Given the description of an element on the screen output the (x, y) to click on. 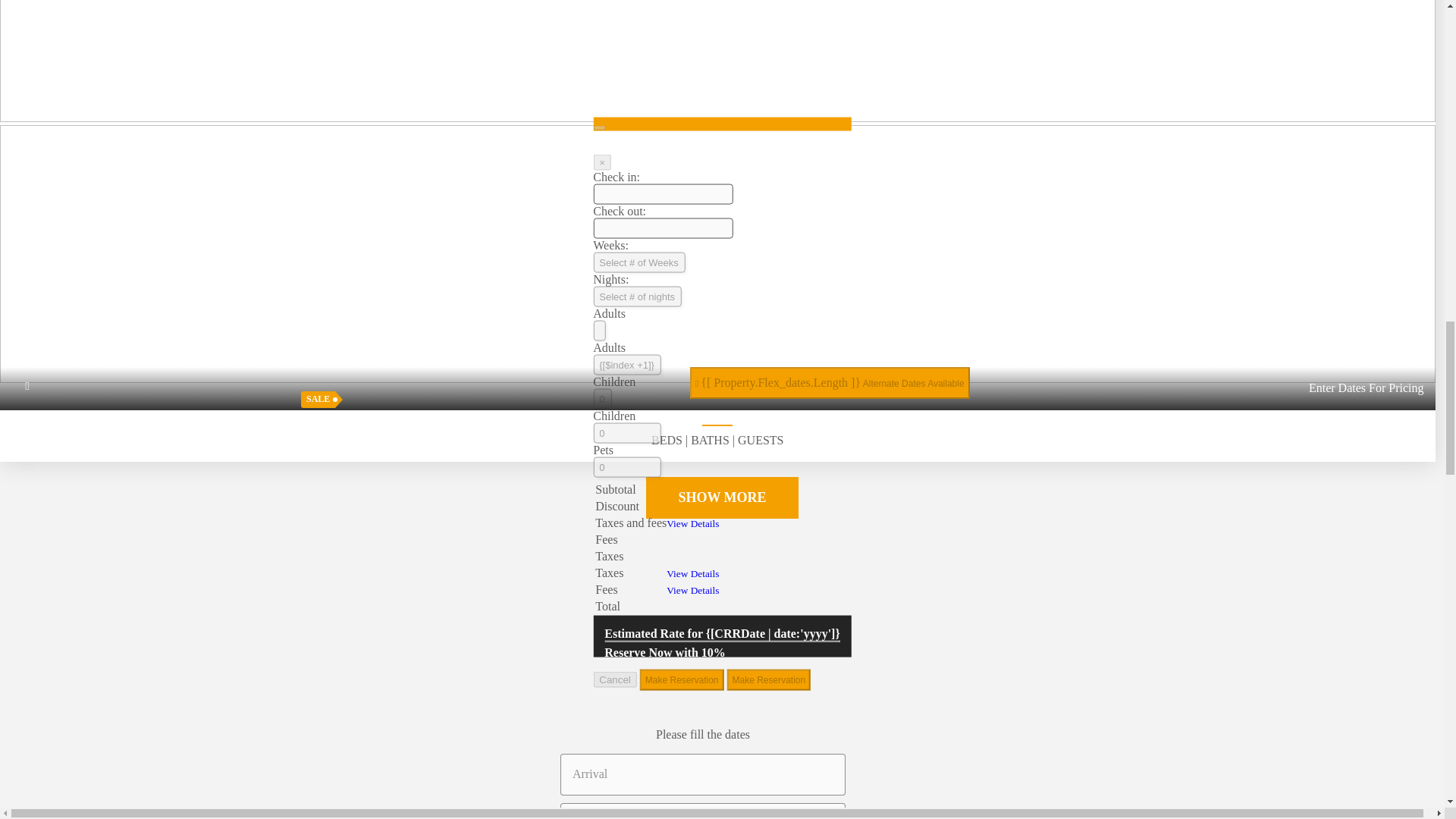
Quick View (717, 386)
